Given the description of an element on the screen output the (x, y) to click on. 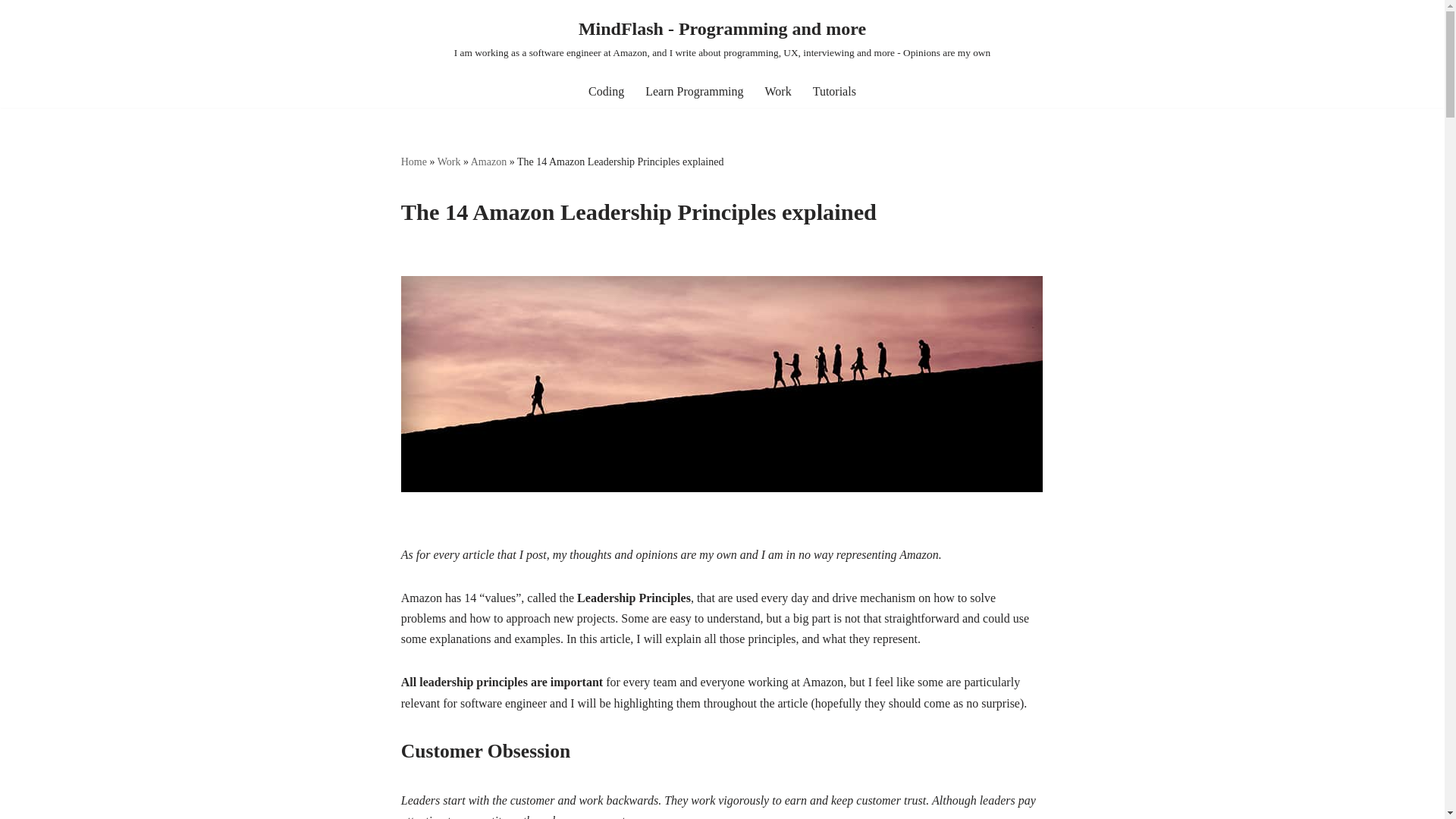
Work (449, 161)
Coding (606, 91)
Work (778, 91)
Learn Programming (693, 91)
Amazon (488, 161)
Home (413, 161)
Skip to content (11, 31)
Tutorials (834, 91)
